Given the description of an element on the screen output the (x, y) to click on. 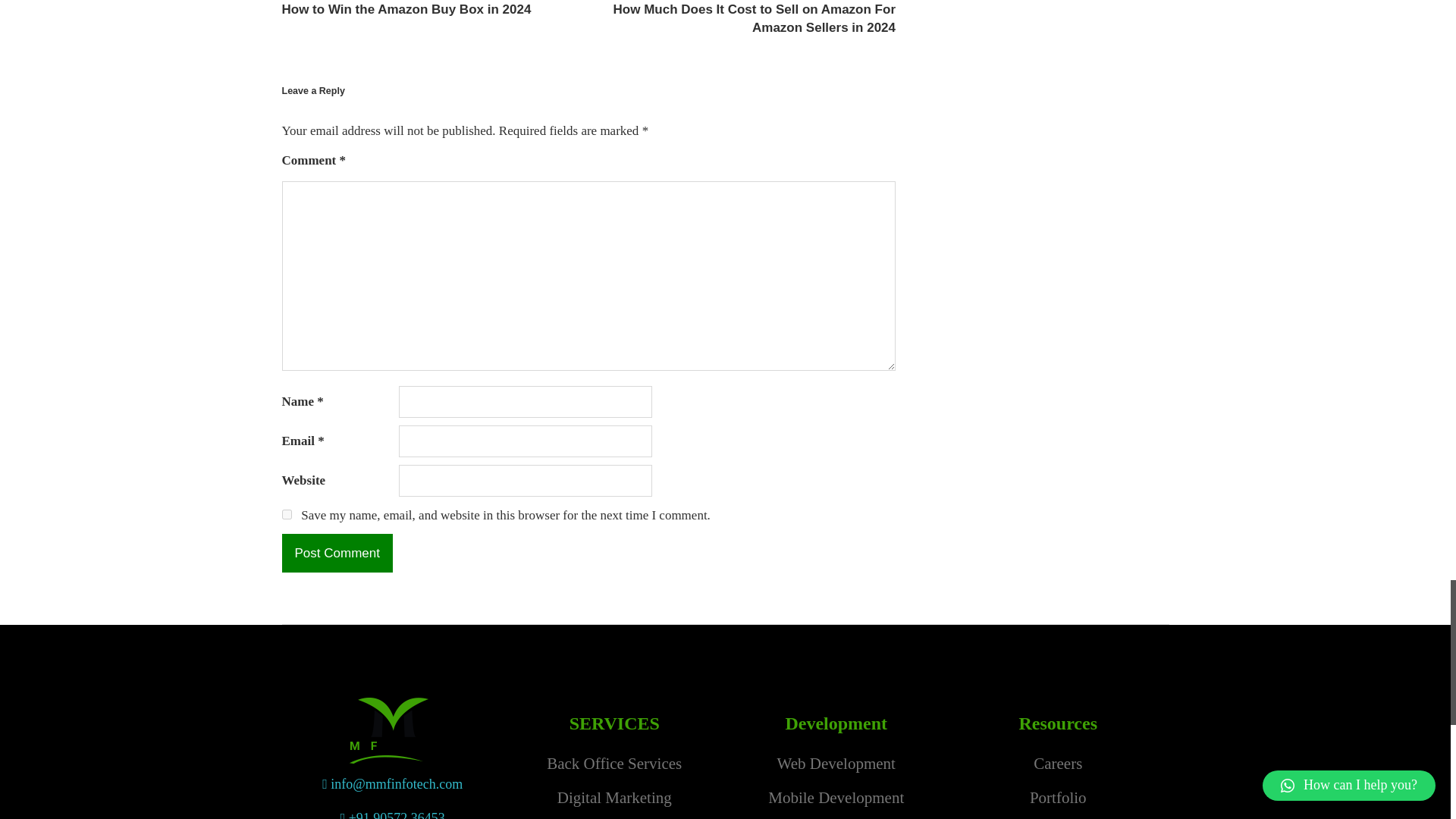
yes (287, 514)
Post Comment (337, 552)
